Given the description of an element on the screen output the (x, y) to click on. 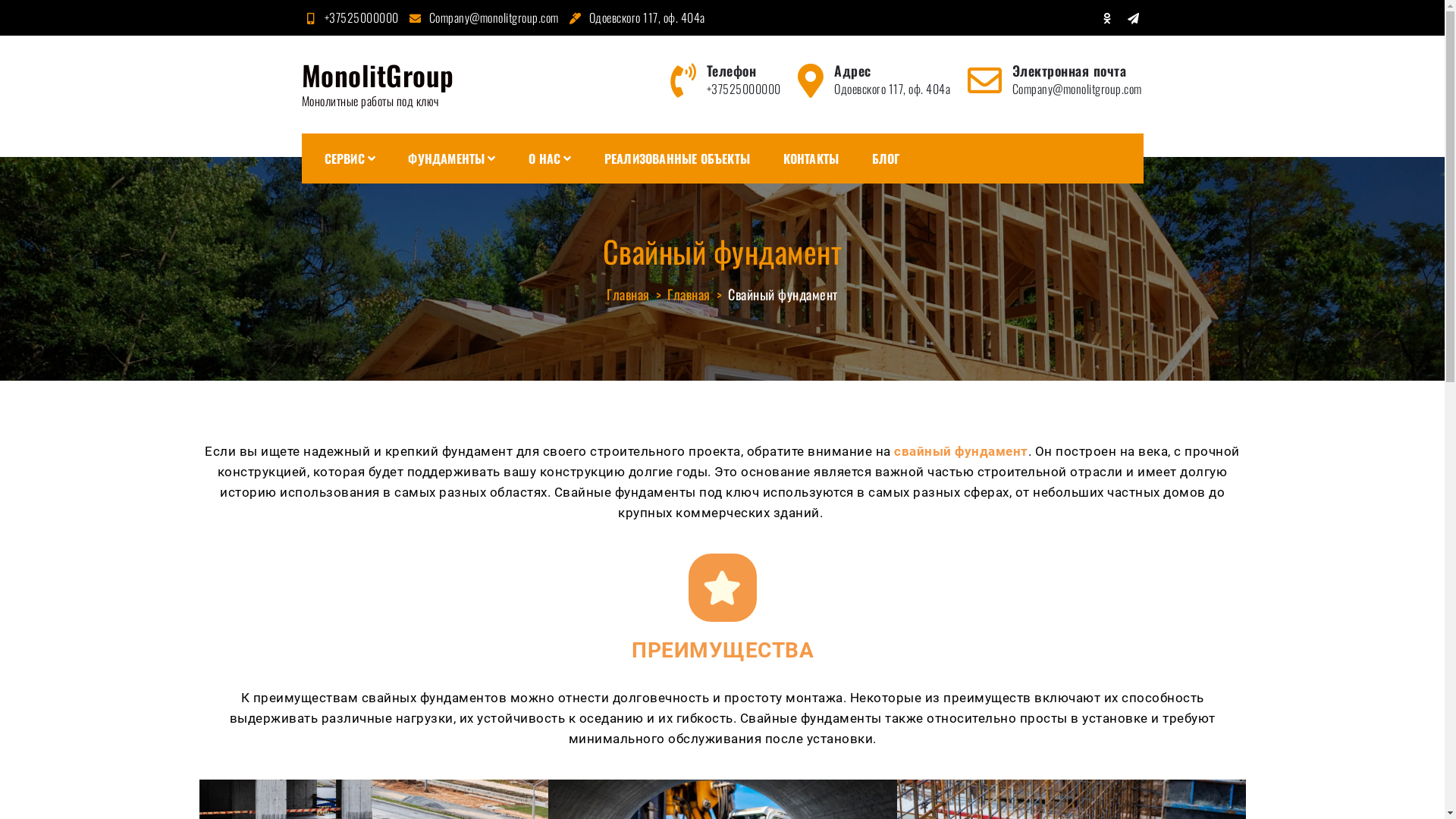
Company@monolitgroup.com Element type: text (482, 17)
+37525000000 Element type: text (349, 17)
MonolitGroup Element type: text (377, 74)
Company@monolitgroup.com Element type: text (1076, 88)
+37525000000 Element type: text (743, 88)
